Given the description of an element on the screen output the (x, y) to click on. 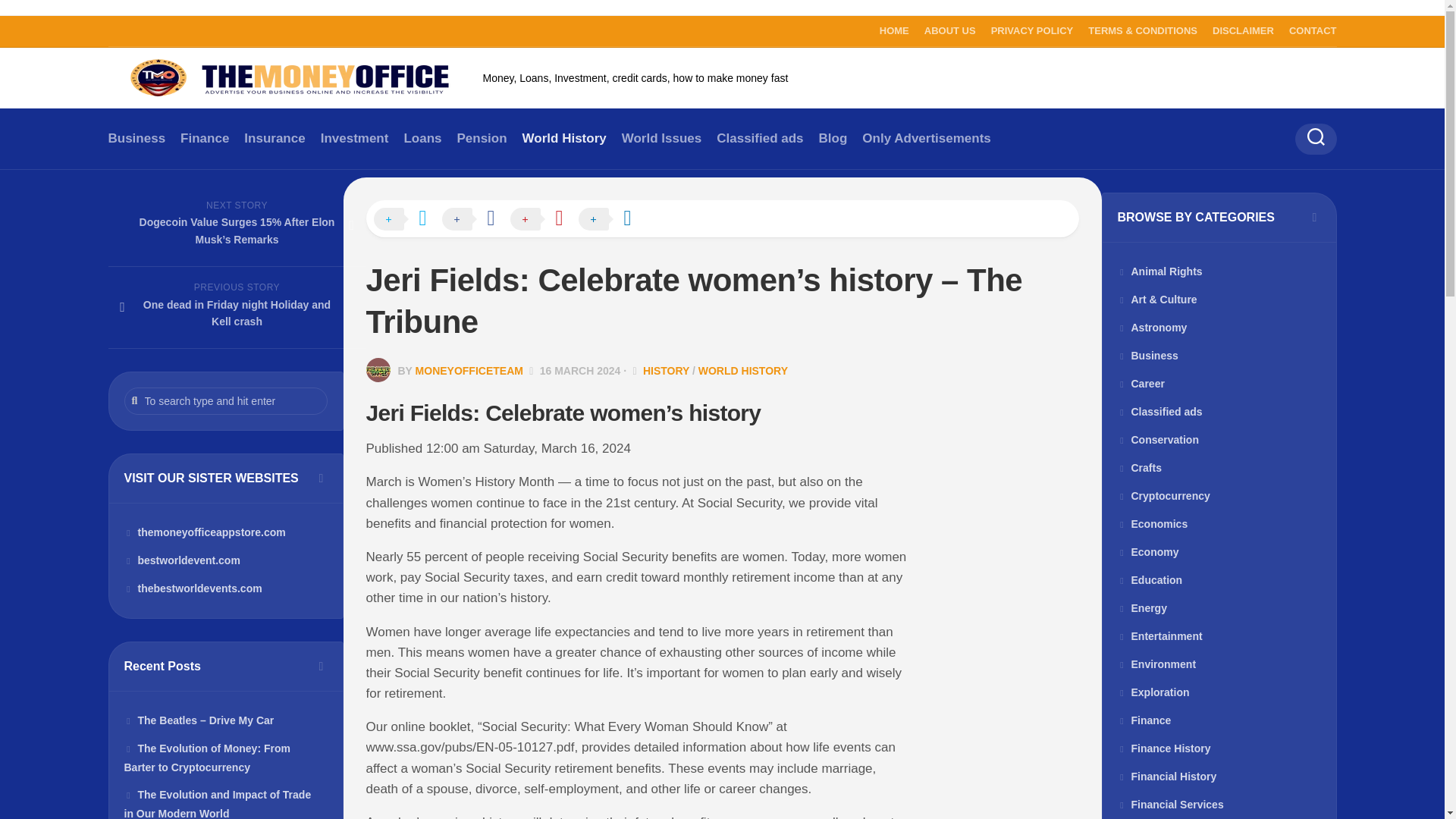
Investment (354, 138)
Share on X (406, 219)
Blog (832, 138)
Loans (422, 138)
Share on Pinterest (543, 219)
CONTACT (1312, 30)
Business (136, 138)
Finance (204, 138)
Posts by Moneyofficeteam (468, 370)
Only Advertisements (925, 138)
